Given the description of an element on the screen output the (x, y) to click on. 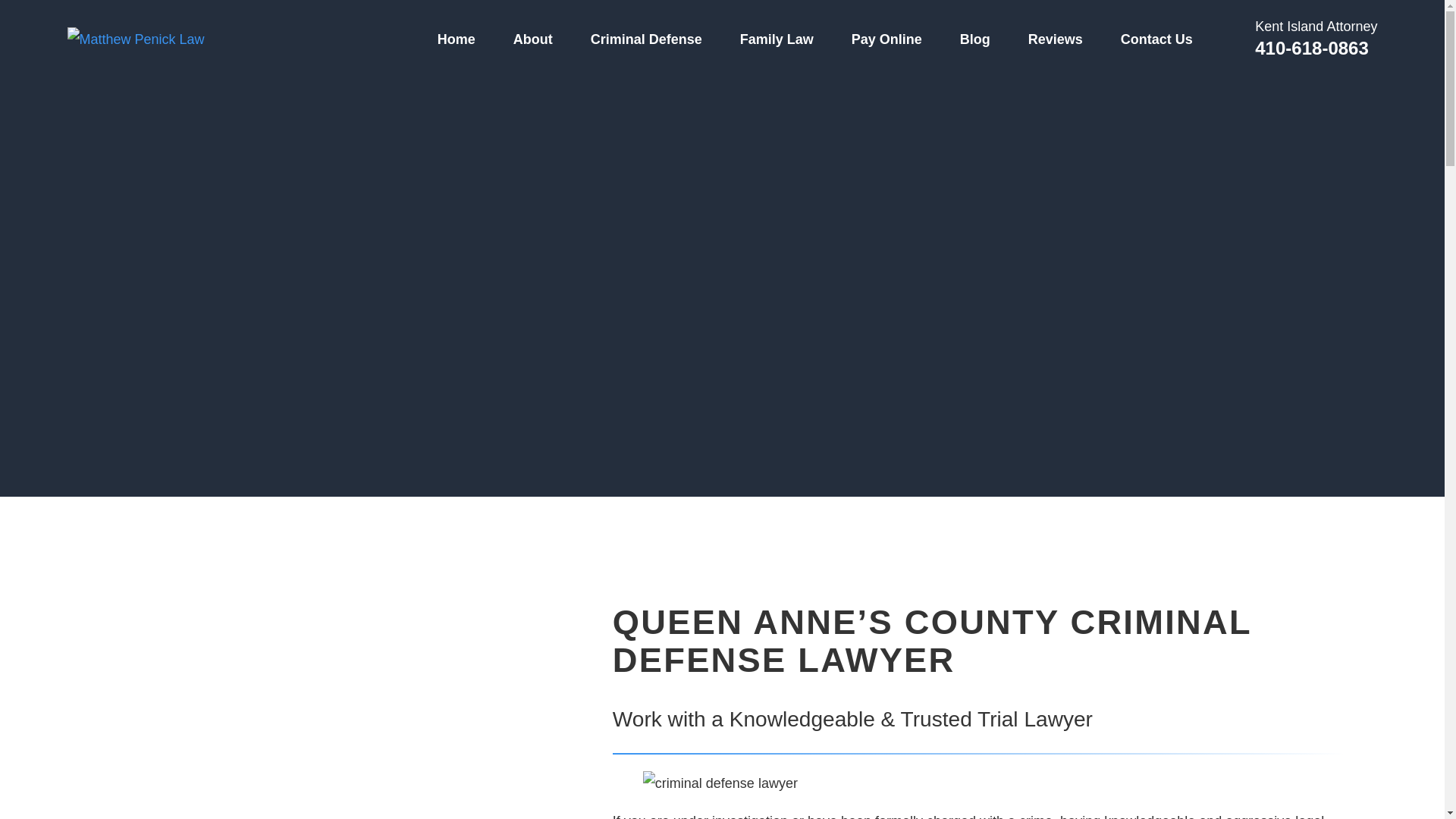
Pay Online (886, 39)
Home (134, 39)
Family Law (776, 39)
Criminal Defense (646, 39)
